Given the description of an element on the screen output the (x, y) to click on. 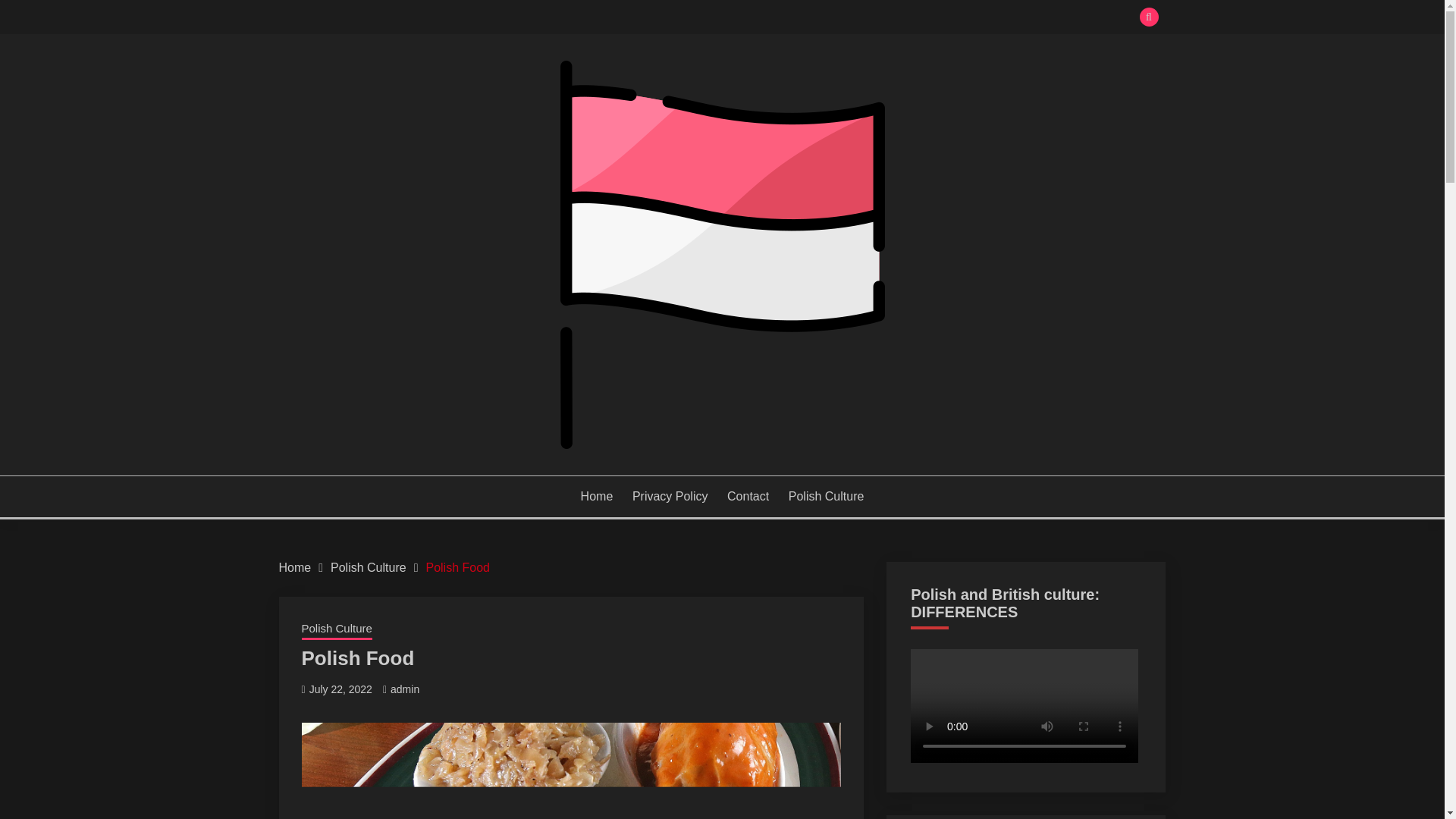
Home (295, 567)
Contact (747, 496)
Search (832, 18)
admin (404, 689)
Privacy Policy (669, 496)
Home (596, 496)
July 22, 2022 (340, 689)
Polish Culture (826, 496)
Polish Culture (336, 629)
Polish Culture (368, 567)
